Given the description of an element on the screen output the (x, y) to click on. 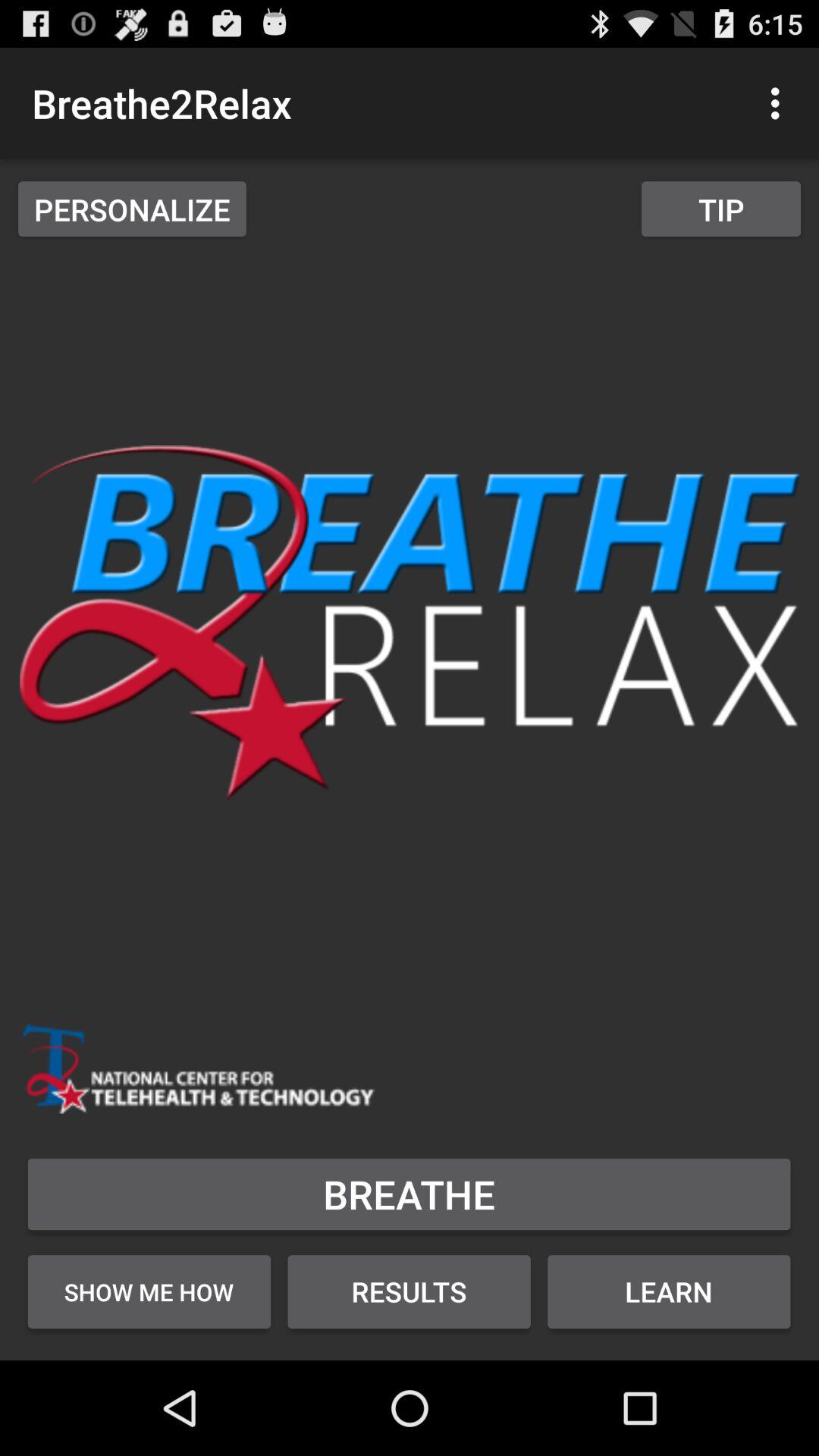
click the app to the right of the breathe2relax icon (779, 103)
